Given the description of an element on the screen output the (x, y) to click on. 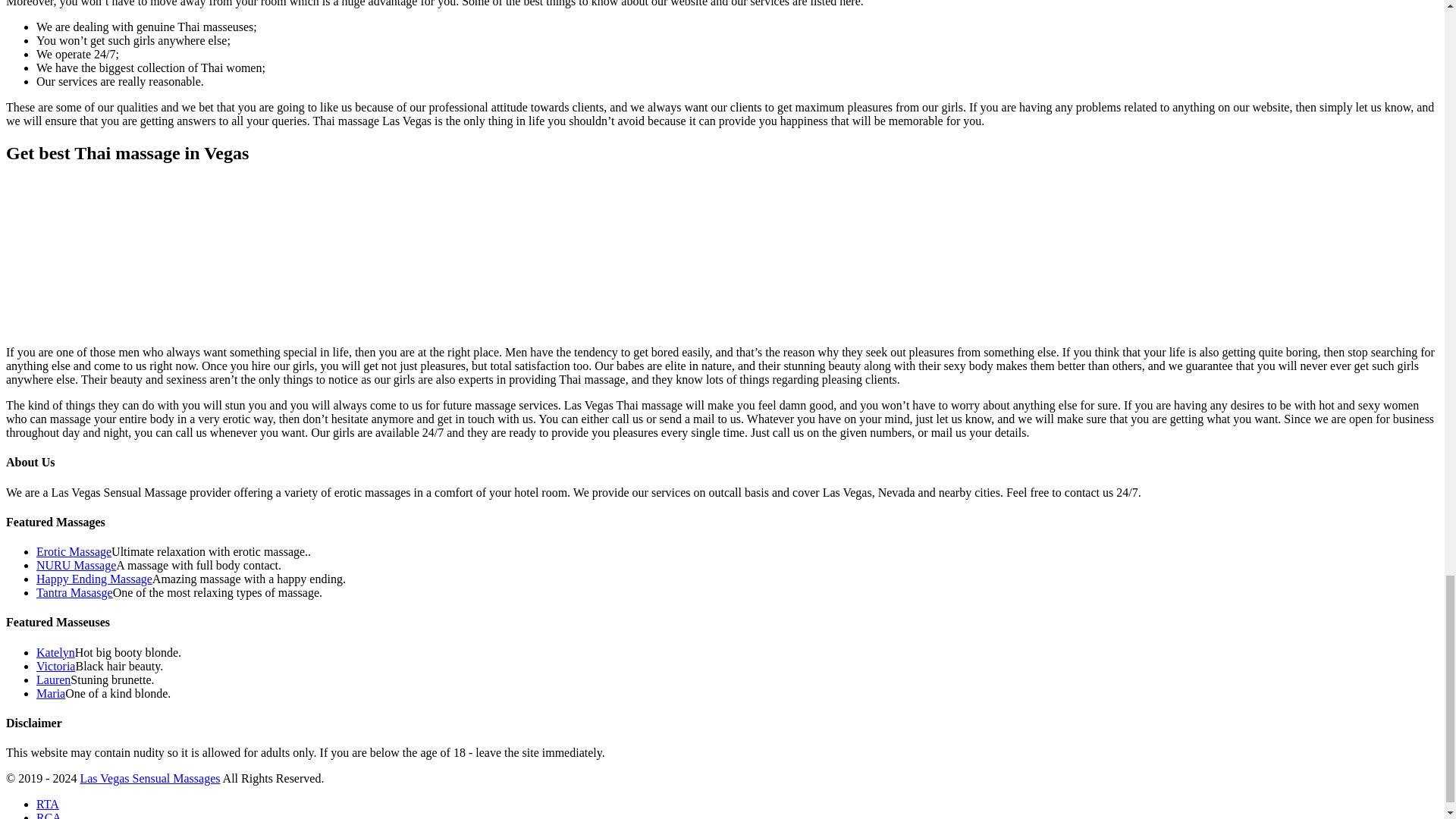
Happy Ending Massage (94, 578)
Erotic Massage (74, 551)
NURU Massage (76, 564)
Tantra Masasge (74, 592)
